Given the description of an element on the screen output the (x, y) to click on. 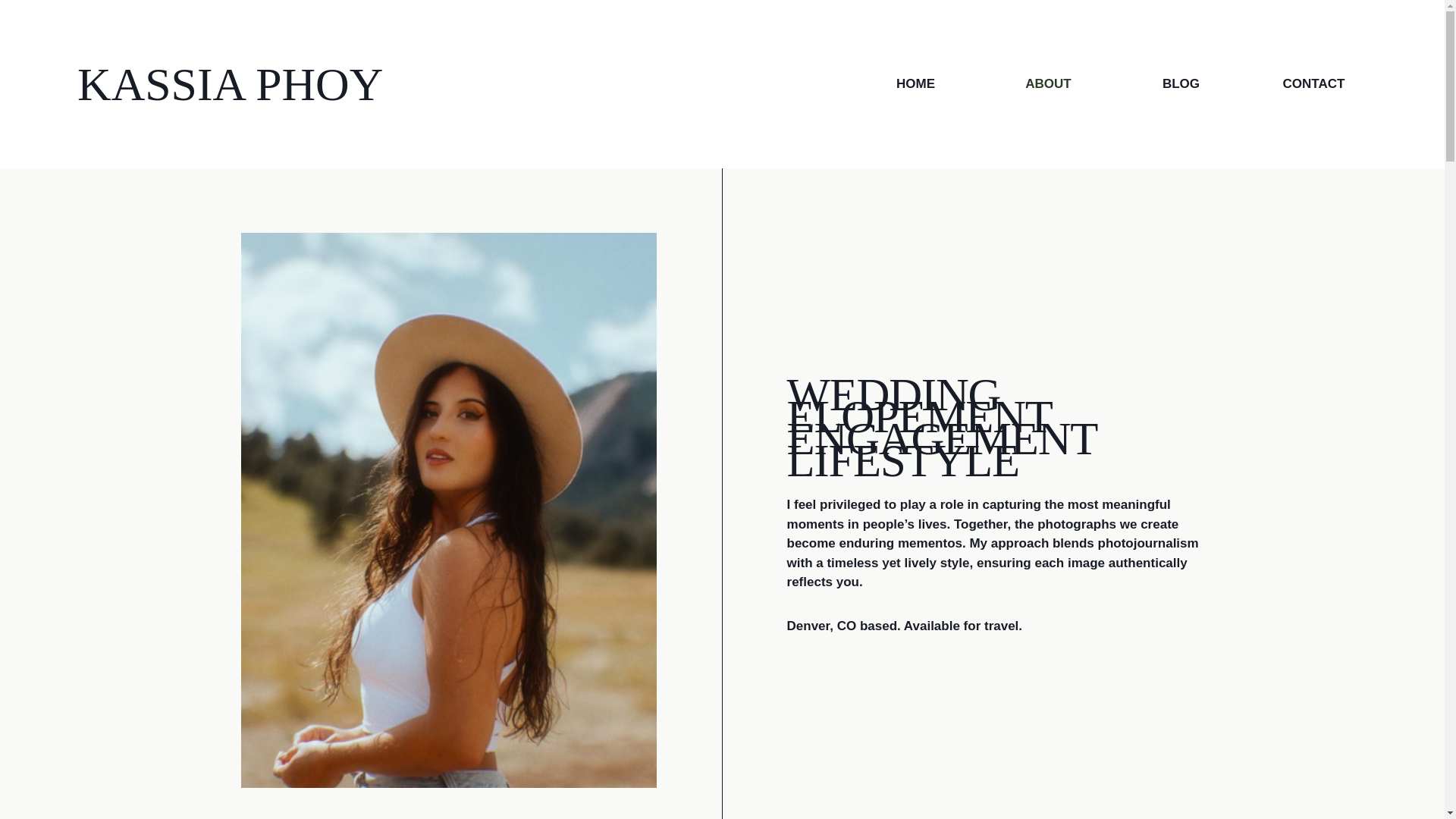
HOME (914, 83)
BLOG (1181, 83)
KASSIA PHOY (229, 83)
CONTACT (1313, 83)
ABOUT (1048, 83)
